Given the description of an element on the screen output the (x, y) to click on. 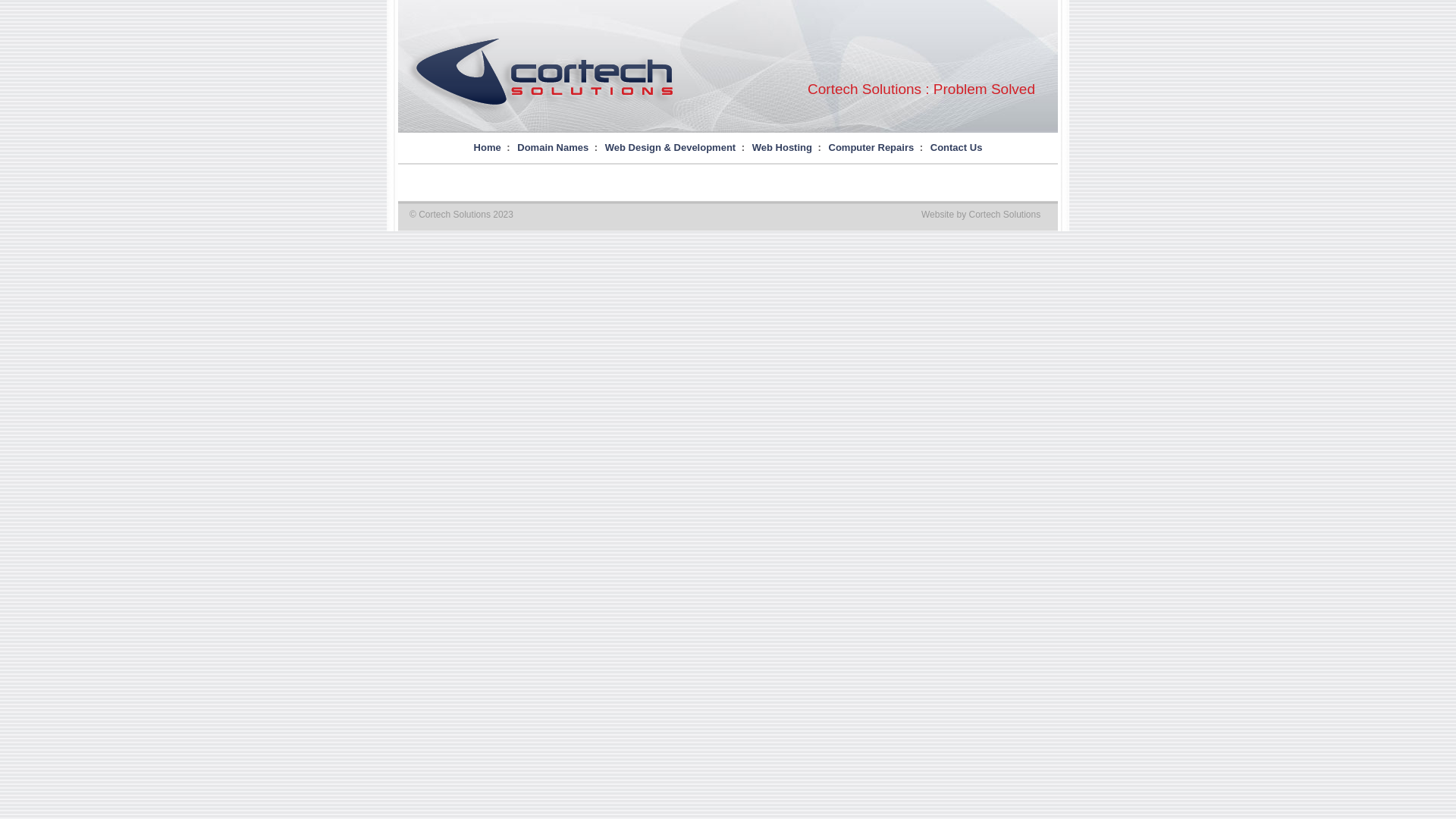
Cortech Solutions Element type: hover (544, 110)
Web Design & Development Element type: text (670, 147)
Computer Repairs Element type: text (870, 147)
Web Hosting Element type: text (782, 147)
Domain Names Element type: text (552, 147)
Home Element type: text (487, 147)
Website by Cortech Solutions Element type: text (980, 214)
Cortech Solutions Logo Element type: hover (544, 71)
Contact Us Element type: text (956, 147)
